Given the description of an element on the screen output the (x, y) to click on. 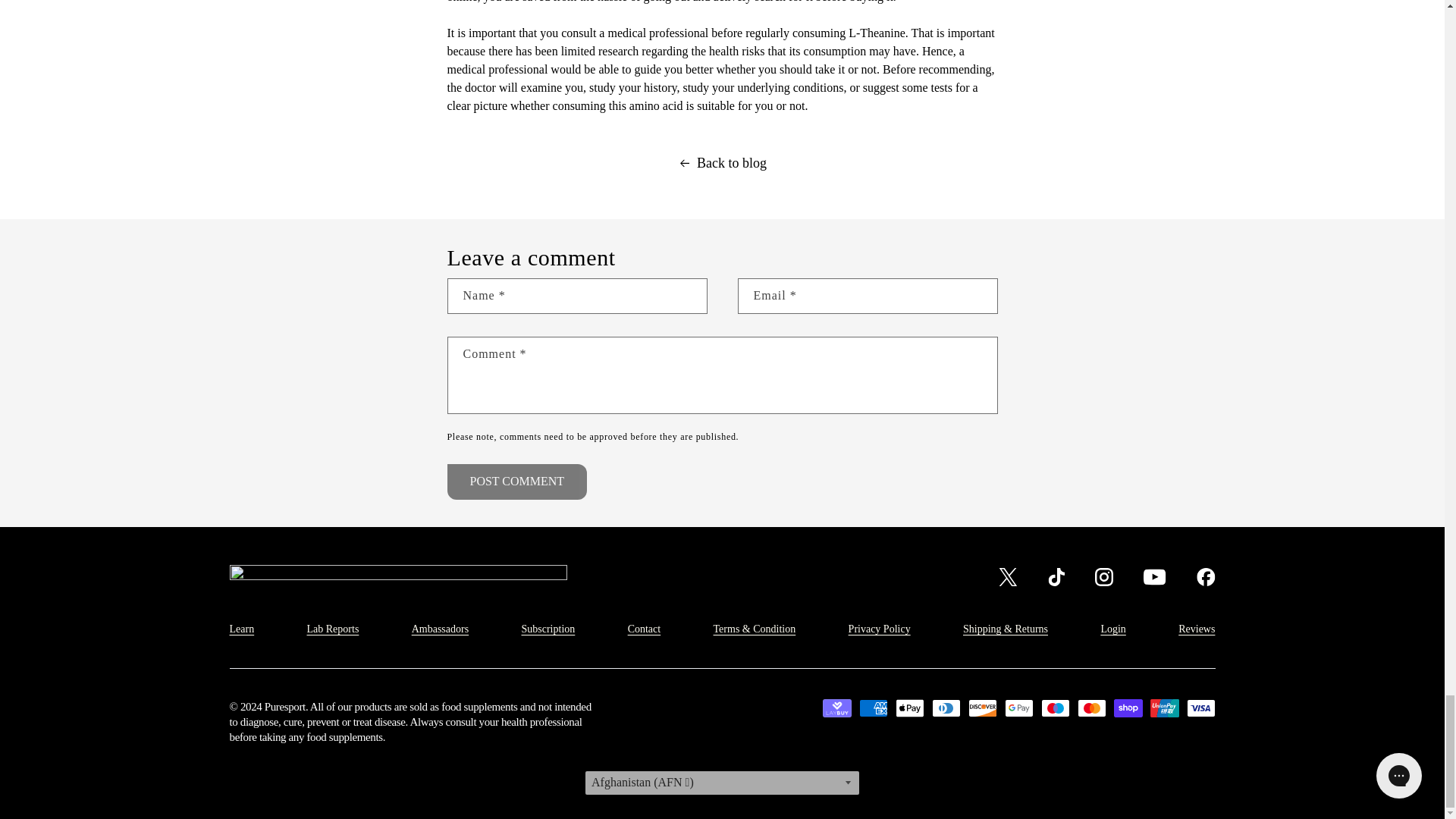
Post comment (517, 481)
